Given the description of an element on the screen output the (x, y) to click on. 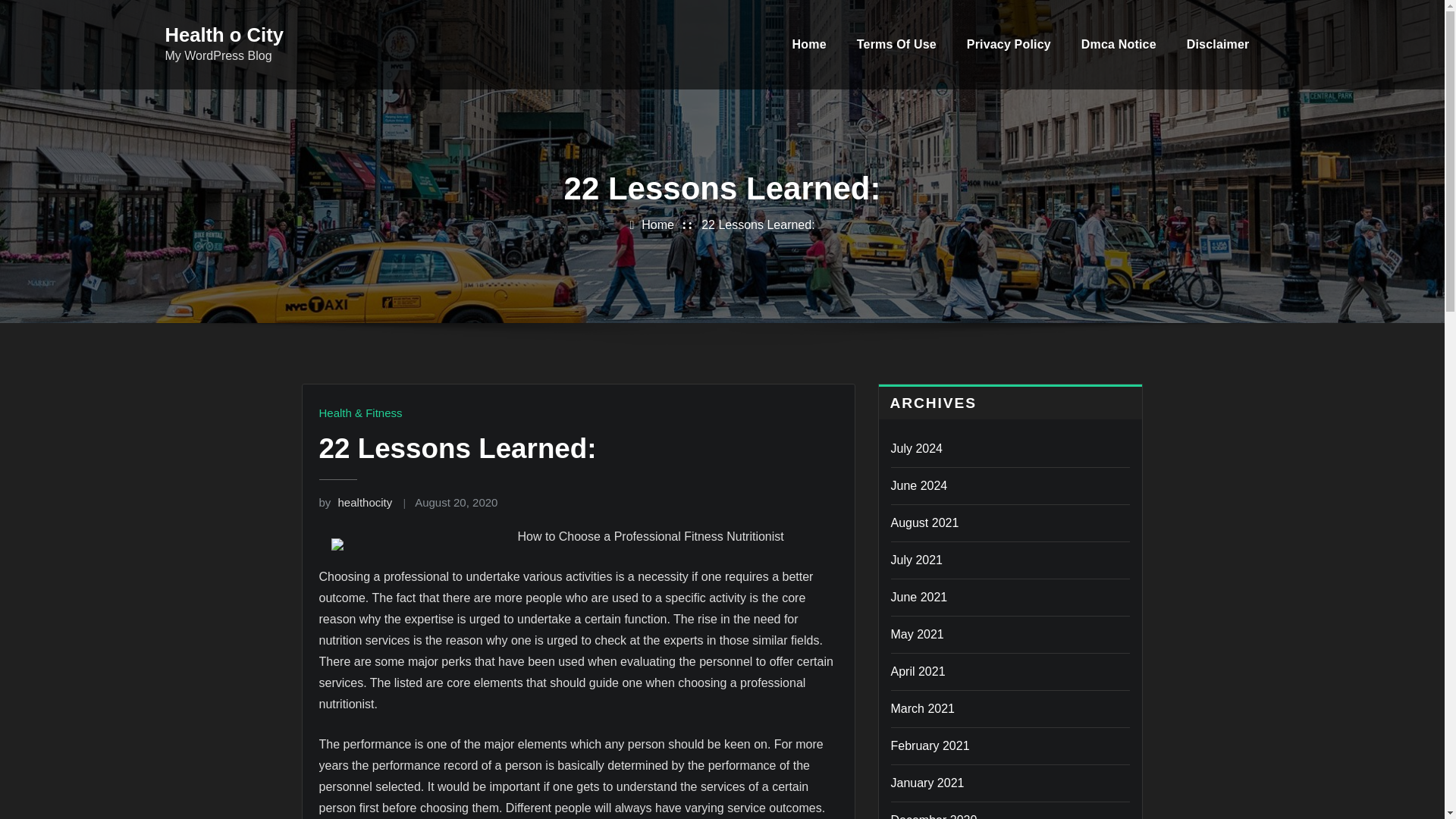
February 2021 (929, 745)
January 2021 (926, 782)
Privacy Policy (1008, 44)
Dmca Notice (1118, 44)
Disclaimer (1218, 44)
December 2020 (932, 816)
August 2021 (923, 522)
22 Lessons Learned: (757, 224)
June 2024 (918, 485)
July 2021 (915, 559)
July 2024 (915, 448)
April 2021 (916, 671)
March 2021 (922, 707)
by healthocity (354, 502)
May 2021 (916, 634)
